Given the description of an element on the screen output the (x, y) to click on. 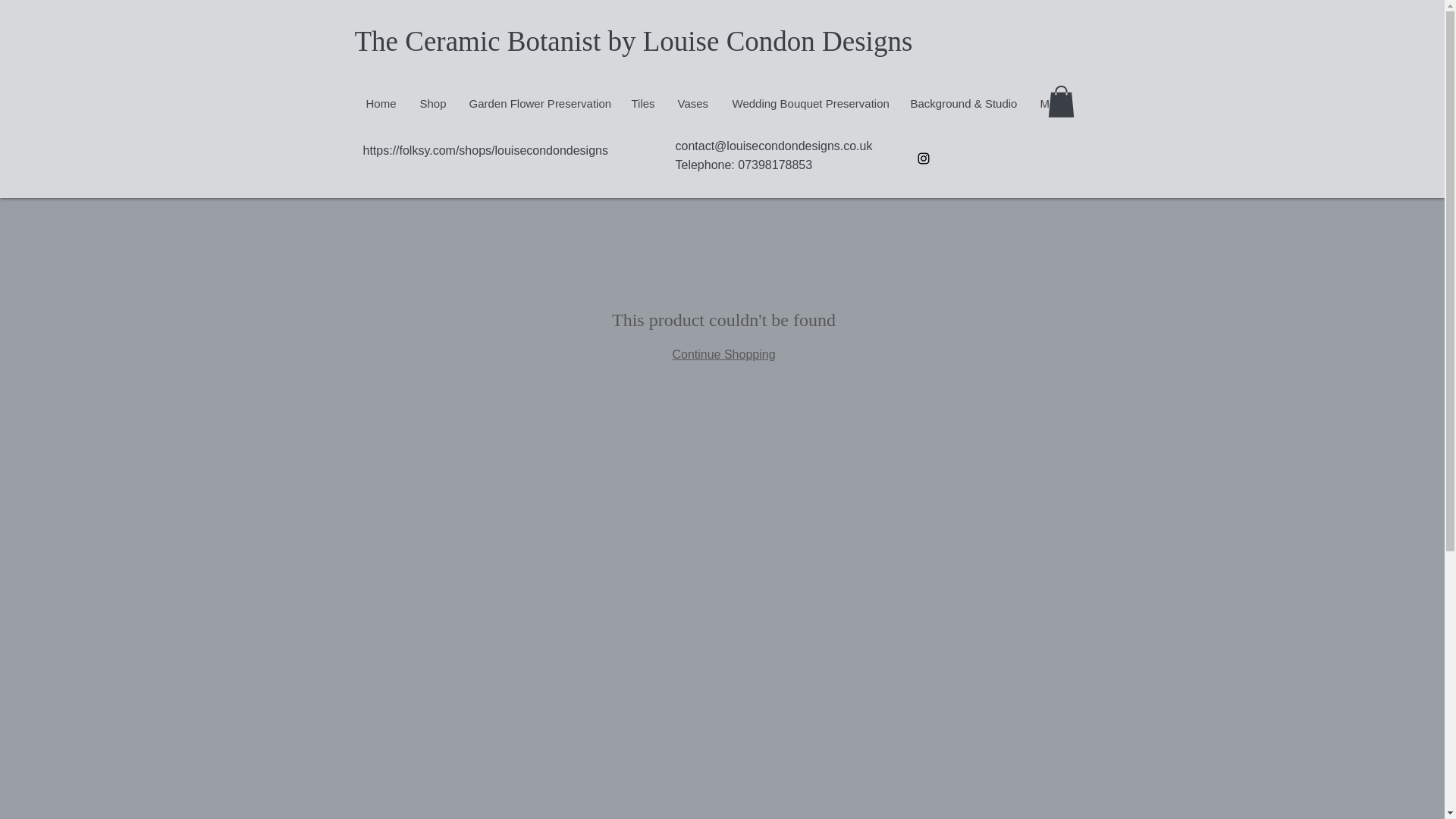
Shop (432, 103)
Home (381, 103)
Wedding Bouquet Preservation (809, 103)
Garden Flower Preservation (537, 103)
Vases (692, 103)
Continue Shopping (722, 354)
